Given the description of an element on the screen output the (x, y) to click on. 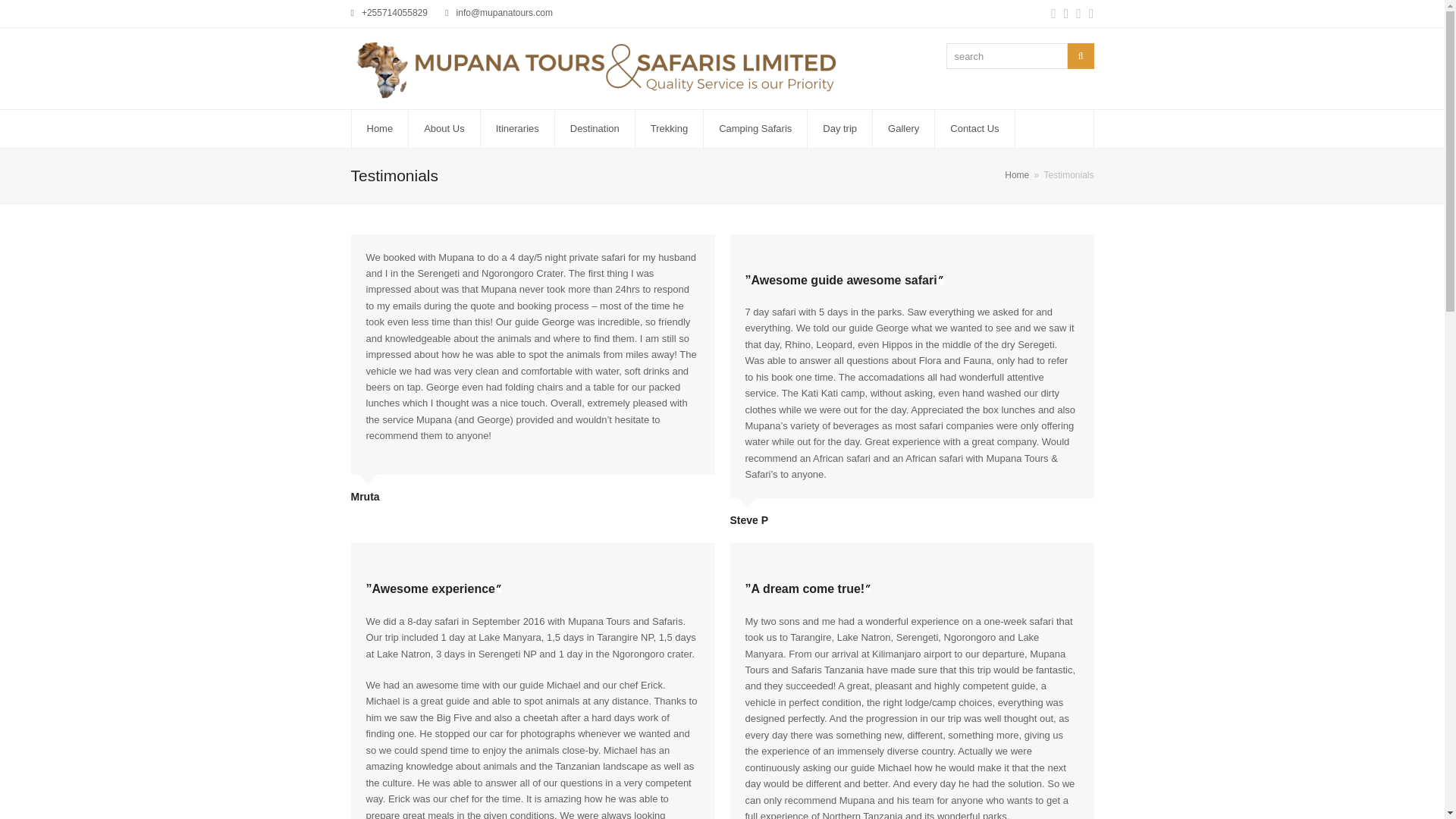
Home (380, 128)
Destination (594, 128)
Gallery (903, 128)
About Us (444, 128)
Itineraries (517, 128)
Camping Safaris (754, 128)
Trekking (668, 128)
Contact Us (973, 128)
Day trip (840, 128)
Search (1080, 55)
Home (1016, 174)
